Given the description of an element on the screen output the (x, y) to click on. 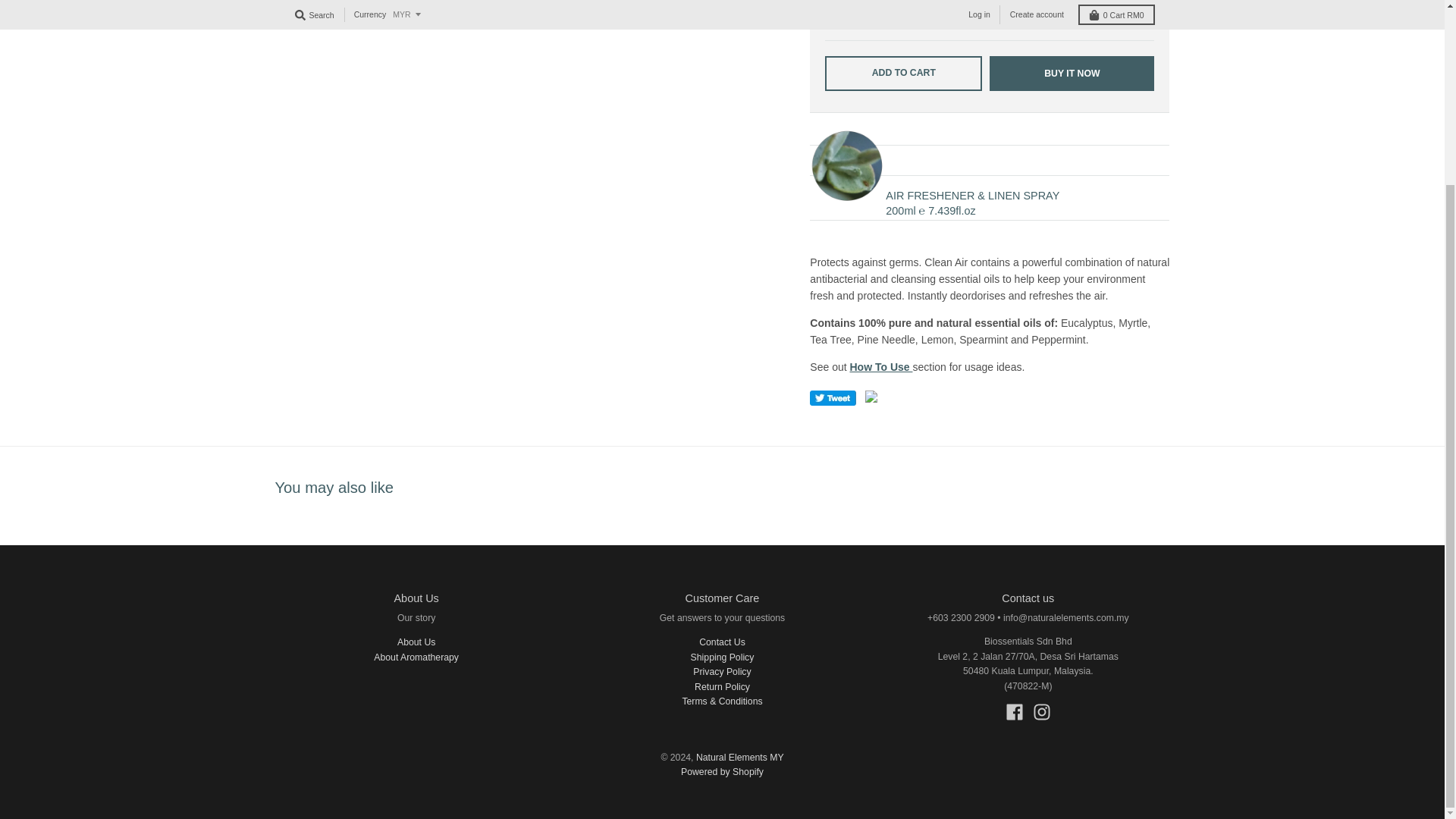
1 (877, 17)
Facebook - Natural Elements MY (1014, 711)
Instagram - Natural Elements MY (1041, 711)
